Given the description of an element on the screen output the (x, y) to click on. 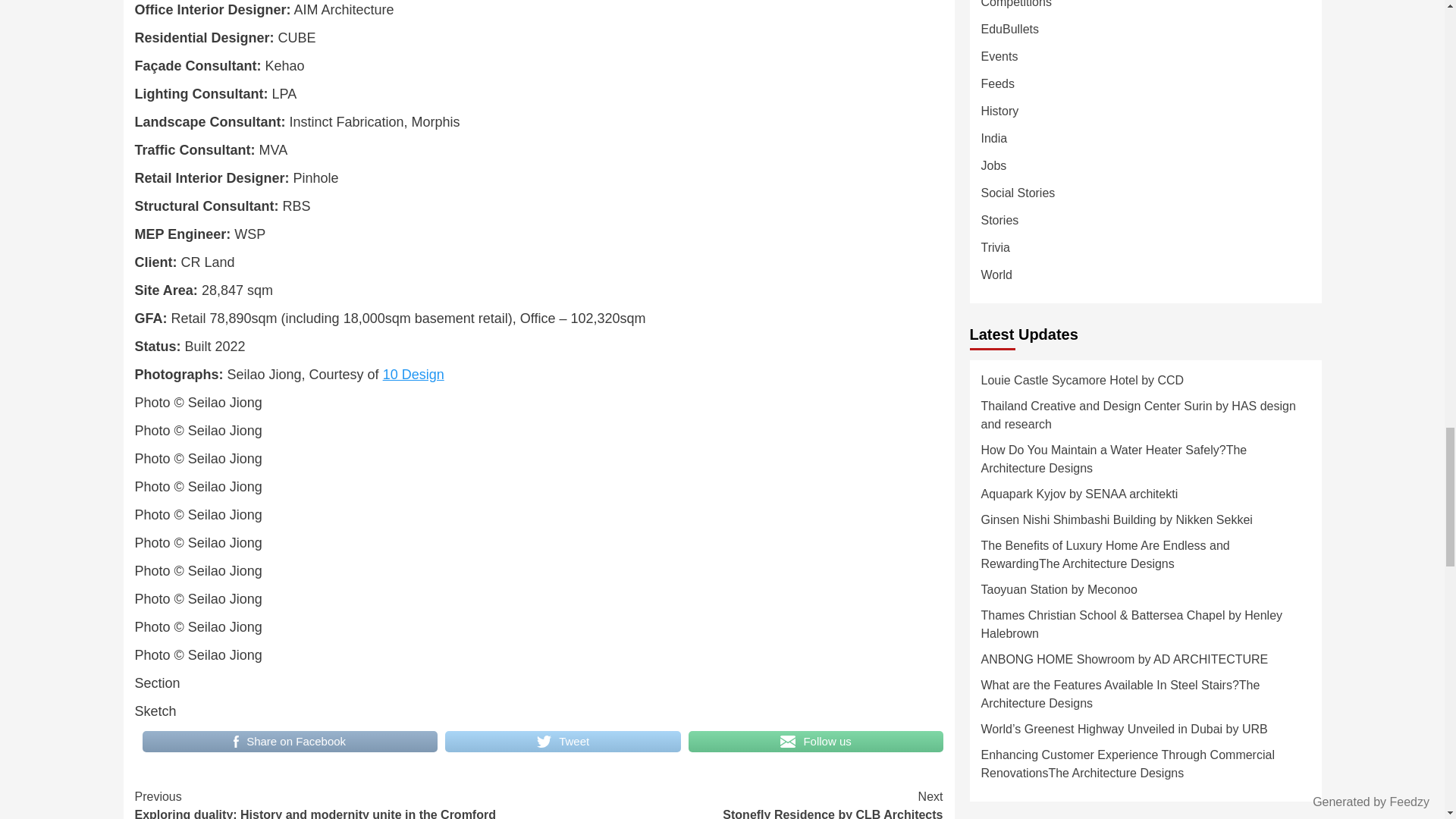
10 Design (740, 803)
Follow us (413, 374)
Share on Facebook (815, 741)
Tweet (290, 741)
